Given the description of an element on the screen output the (x, y) to click on. 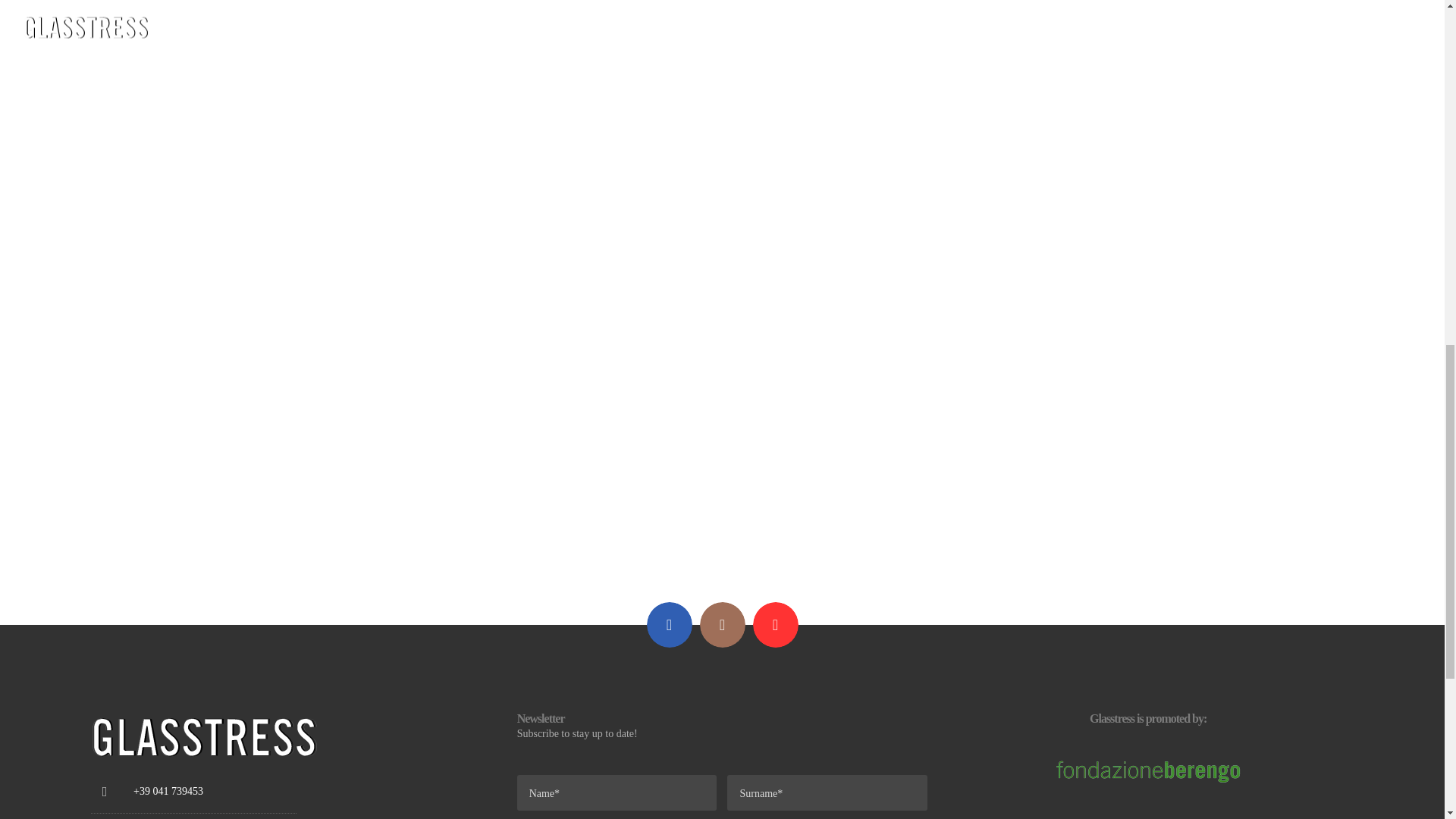
Youtube (774, 624)
Facebook (668, 624)
Instagram (721, 624)
